Given the description of an element on the screen output the (x, y) to click on. 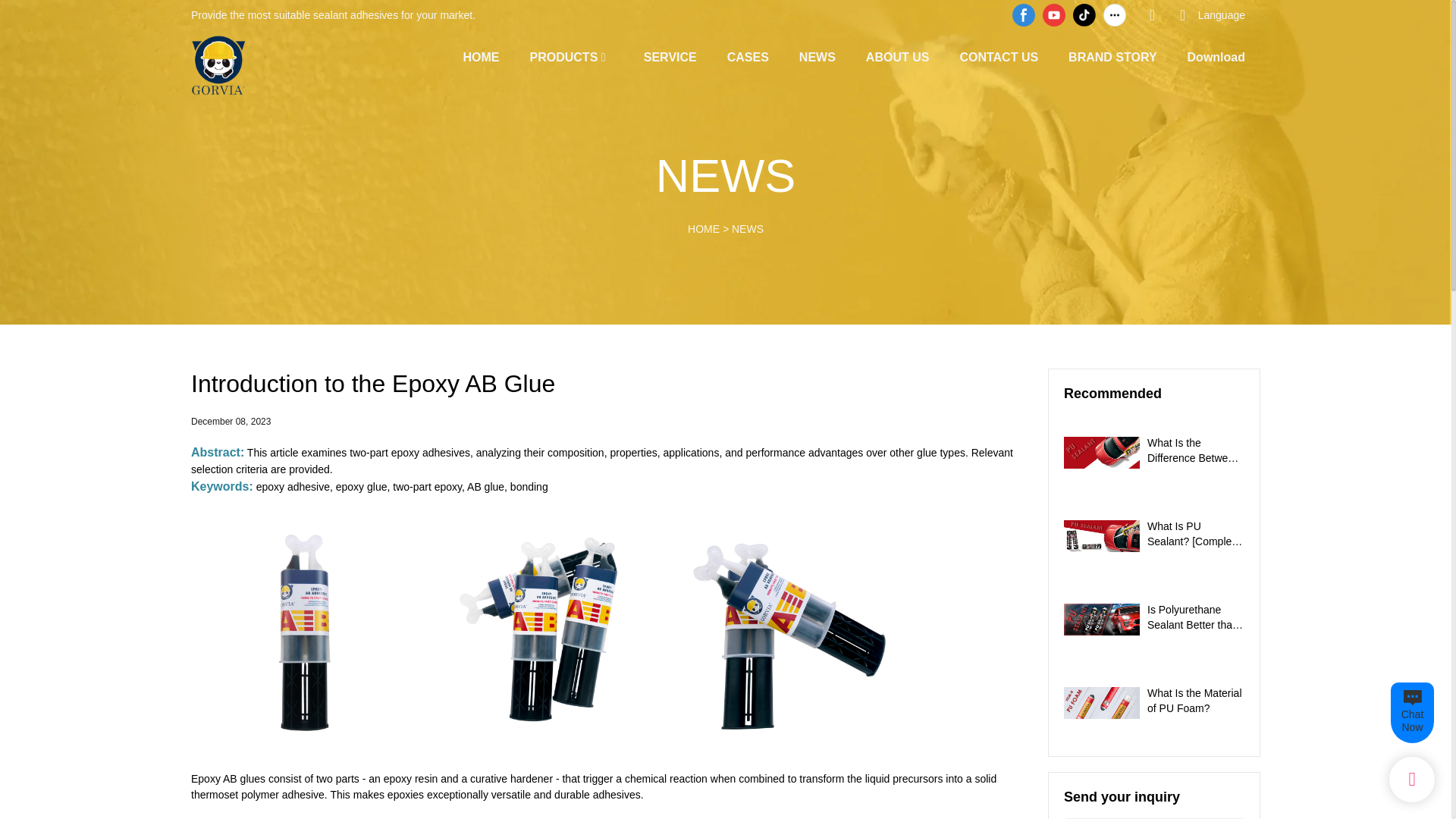
youtube (1053, 15)
facebook (1024, 15)
HOME (481, 56)
tiktok (1083, 15)
PRODUCTS (563, 56)
